Given the description of an element on the screen output the (x, y) to click on. 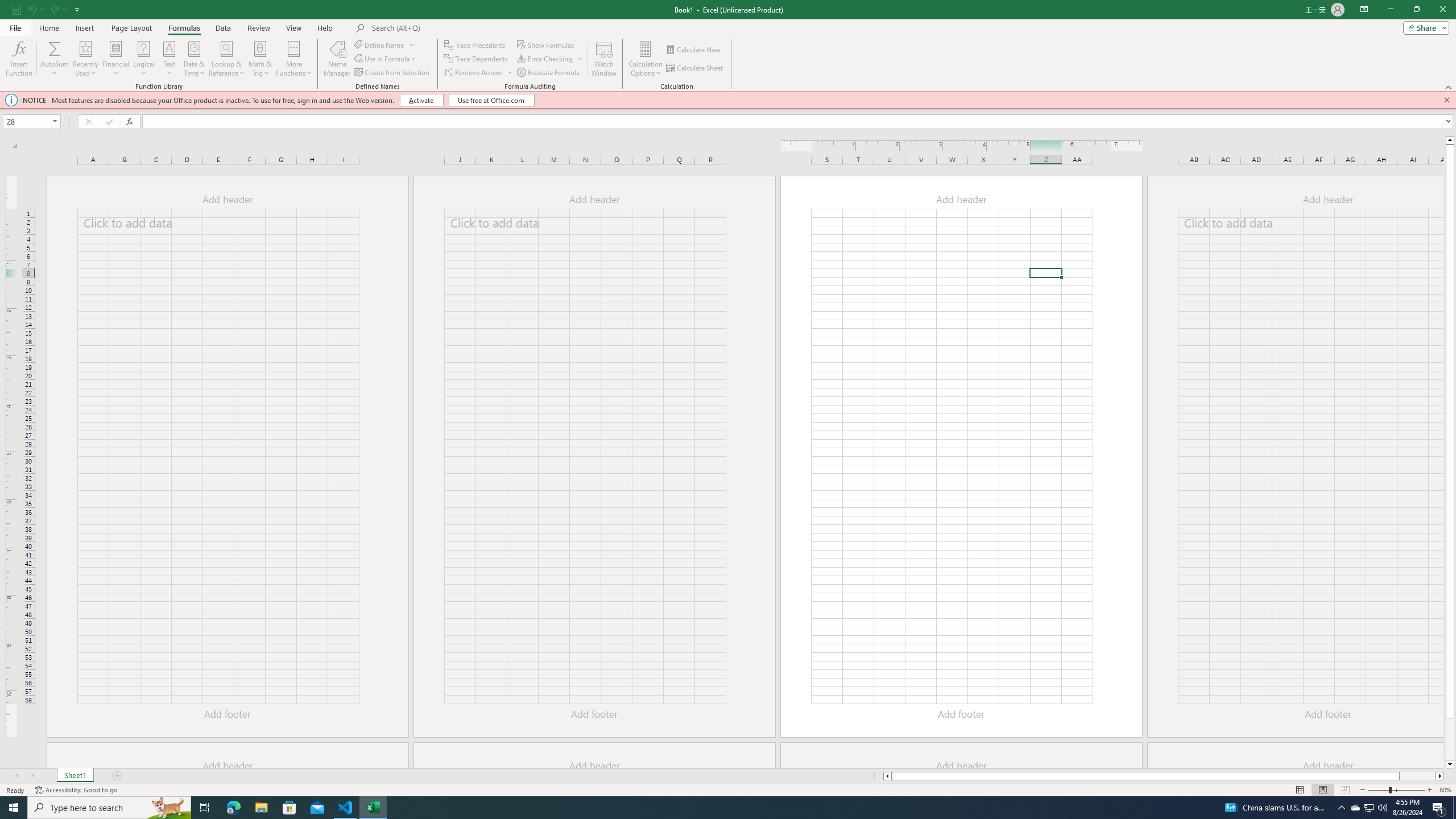
Text (169, 58)
